Given the description of an element on the screen output the (x, y) to click on. 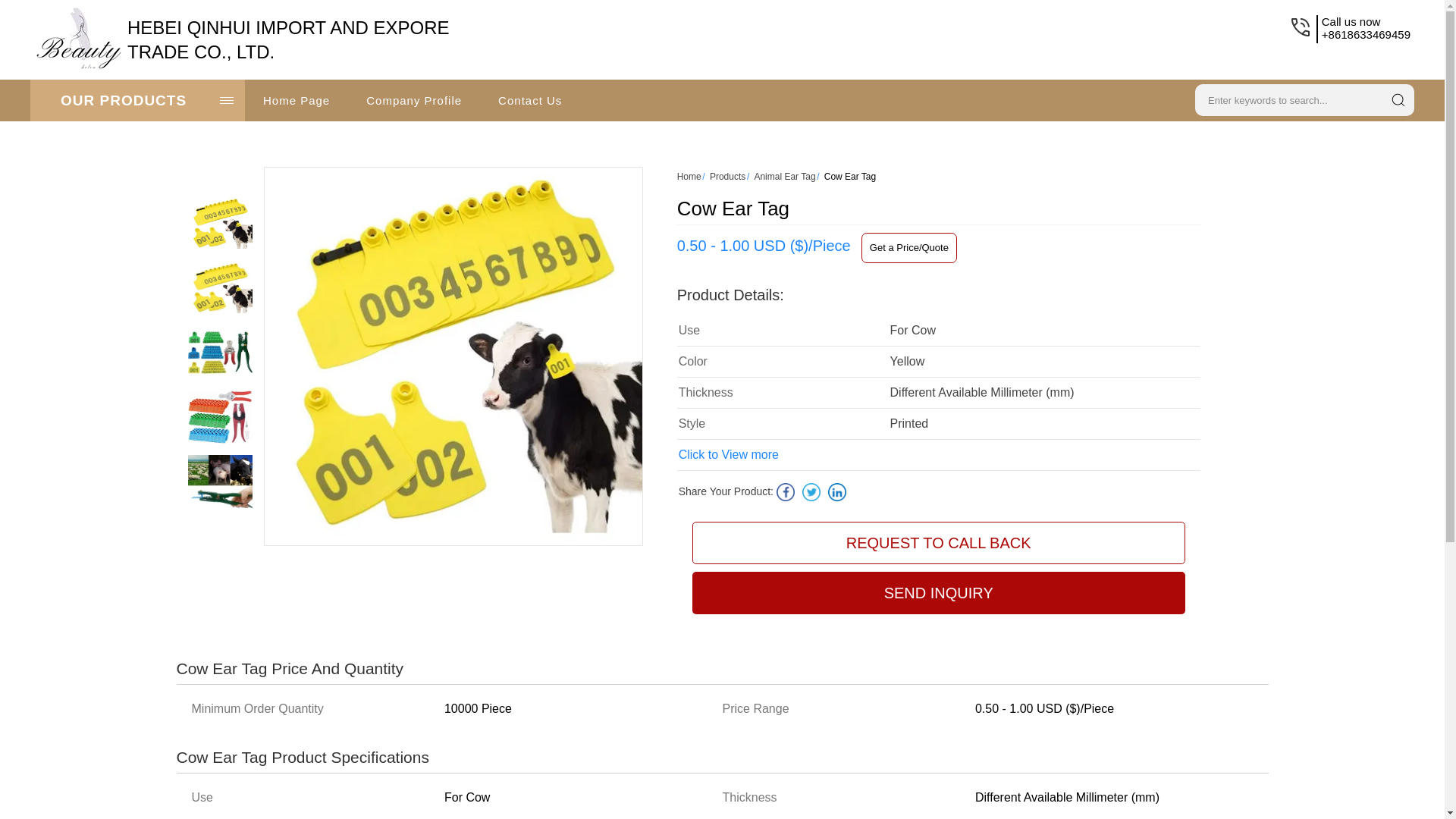
submit (1398, 99)
submit (1398, 99)
OUR PRODUCTS (137, 100)
HEBEI QINHUI IMPORT AND EXPORE TRADE CO., LTD. (288, 38)
Enter keywords to search... (1286, 97)
